Given the description of an element on the screen output the (x, y) to click on. 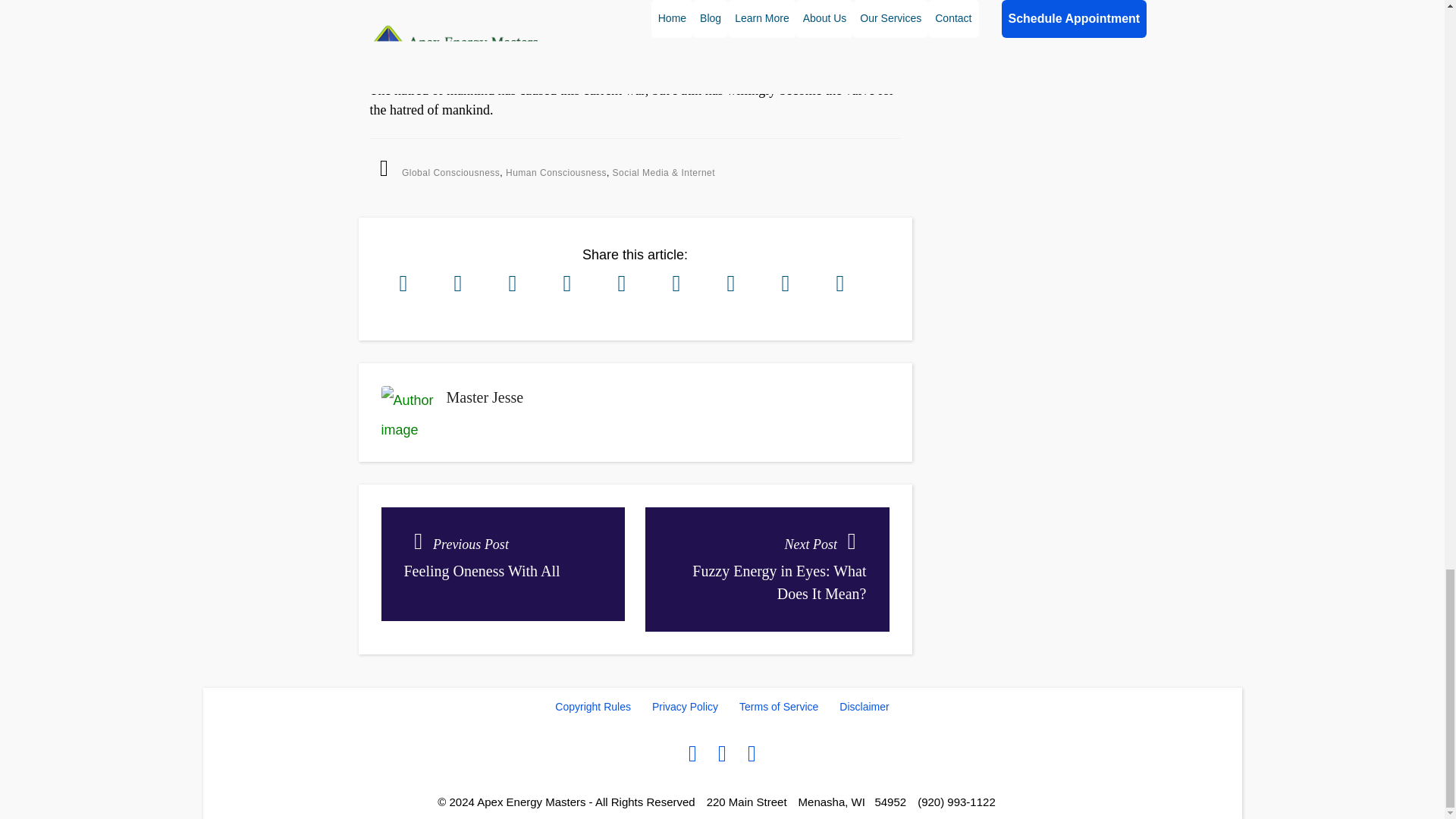
Human Consciousness (556, 172)
Global Consciousness (502, 563)
Master Jesse (450, 172)
